Given the description of an element on the screen output the (x, y) to click on. 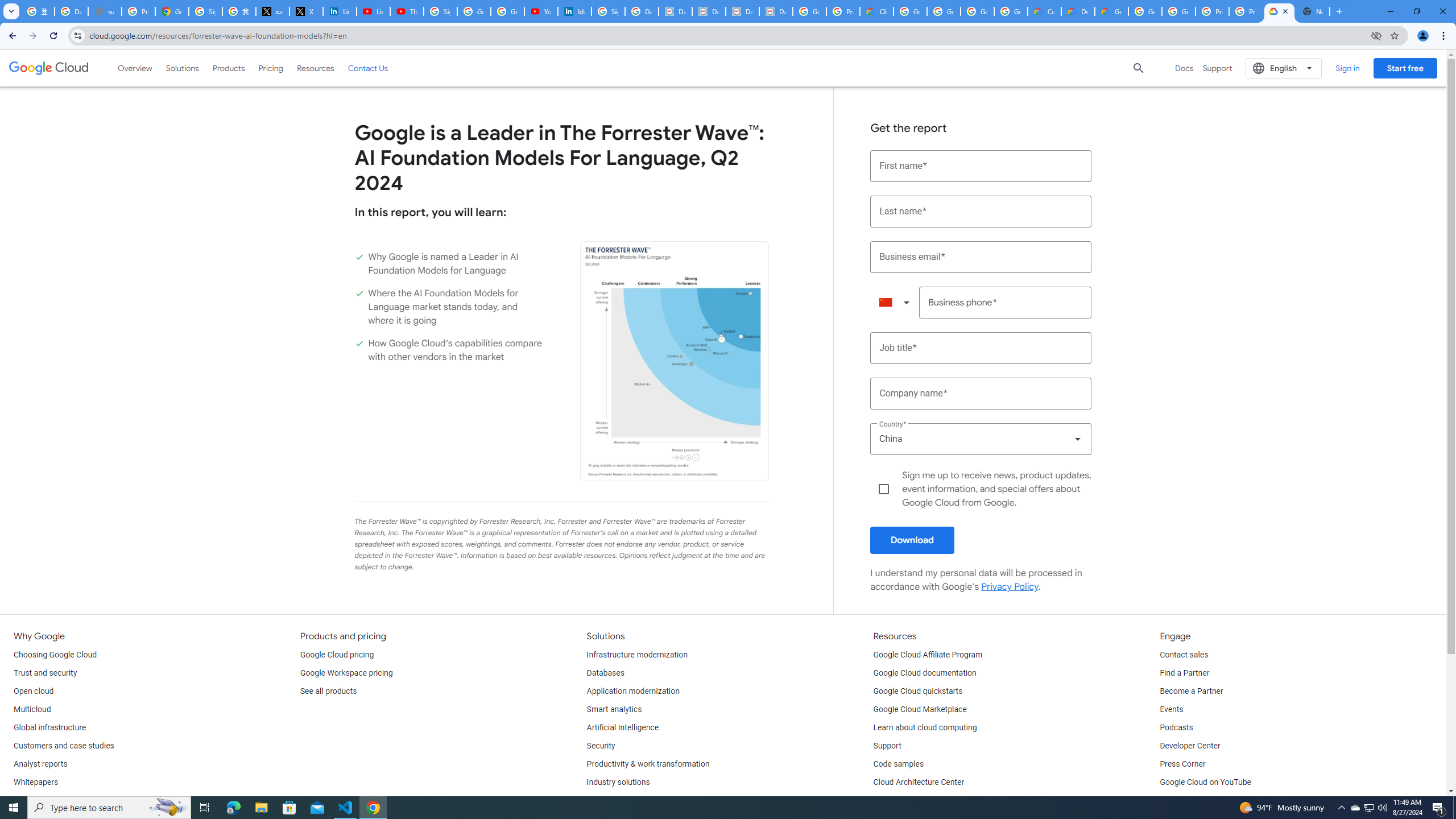
New Tab (1313, 11)
Contact sales (1183, 655)
Become a Partner (1190, 691)
Data Privacy Framework (675, 11)
Databases (605, 673)
Whitepapers (35, 782)
Infrastructure modernization (637, 655)
Trust and security (45, 673)
Analyst reports (39, 764)
Privacy Help Center - Policies Help (138, 11)
Press Corner (1181, 764)
Find a Partner (1183, 673)
